Given the description of an element on the screen output the (x, y) to click on. 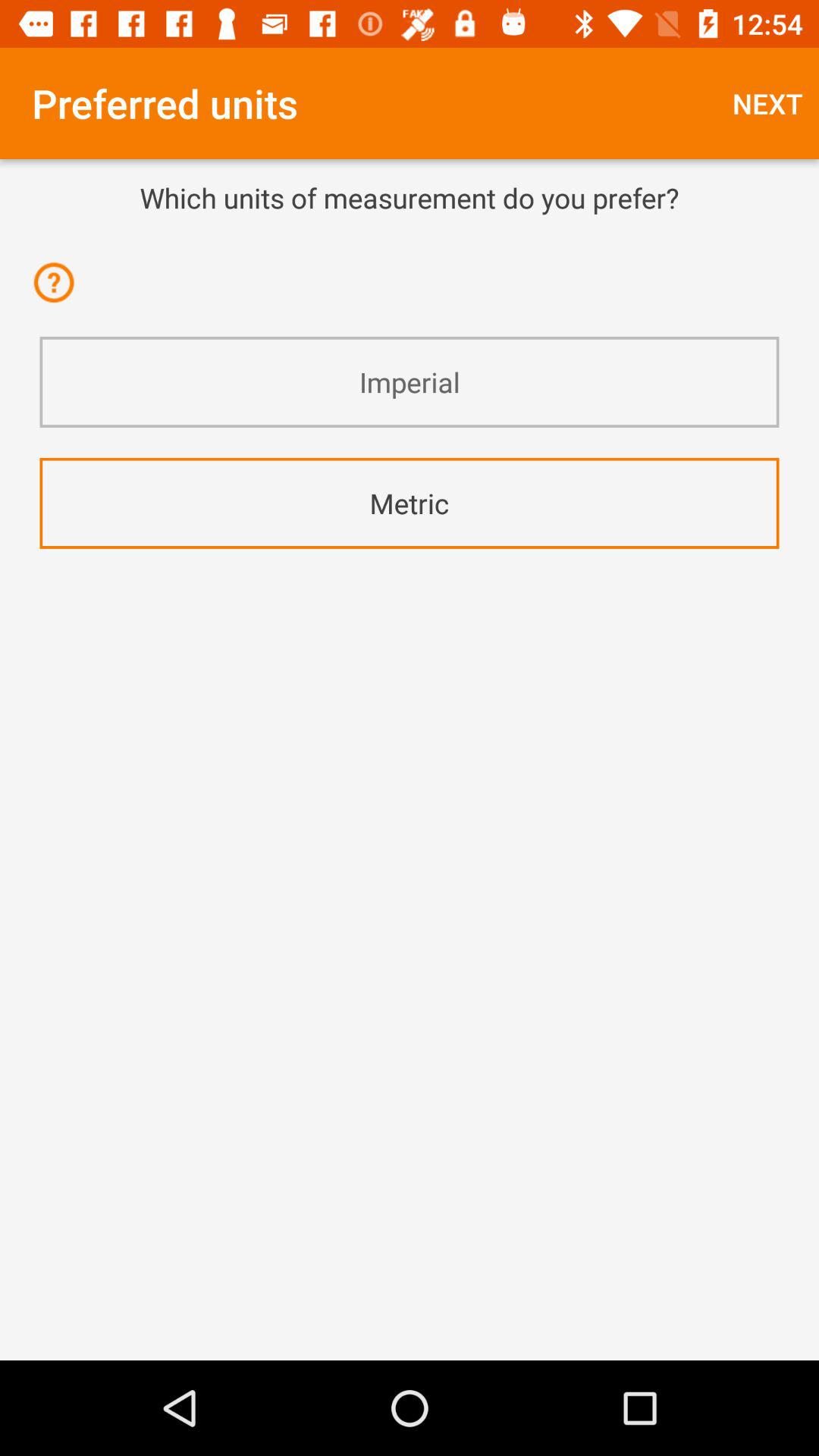
press which units of icon (409, 197)
